Given the description of an element on the screen output the (x, y) to click on. 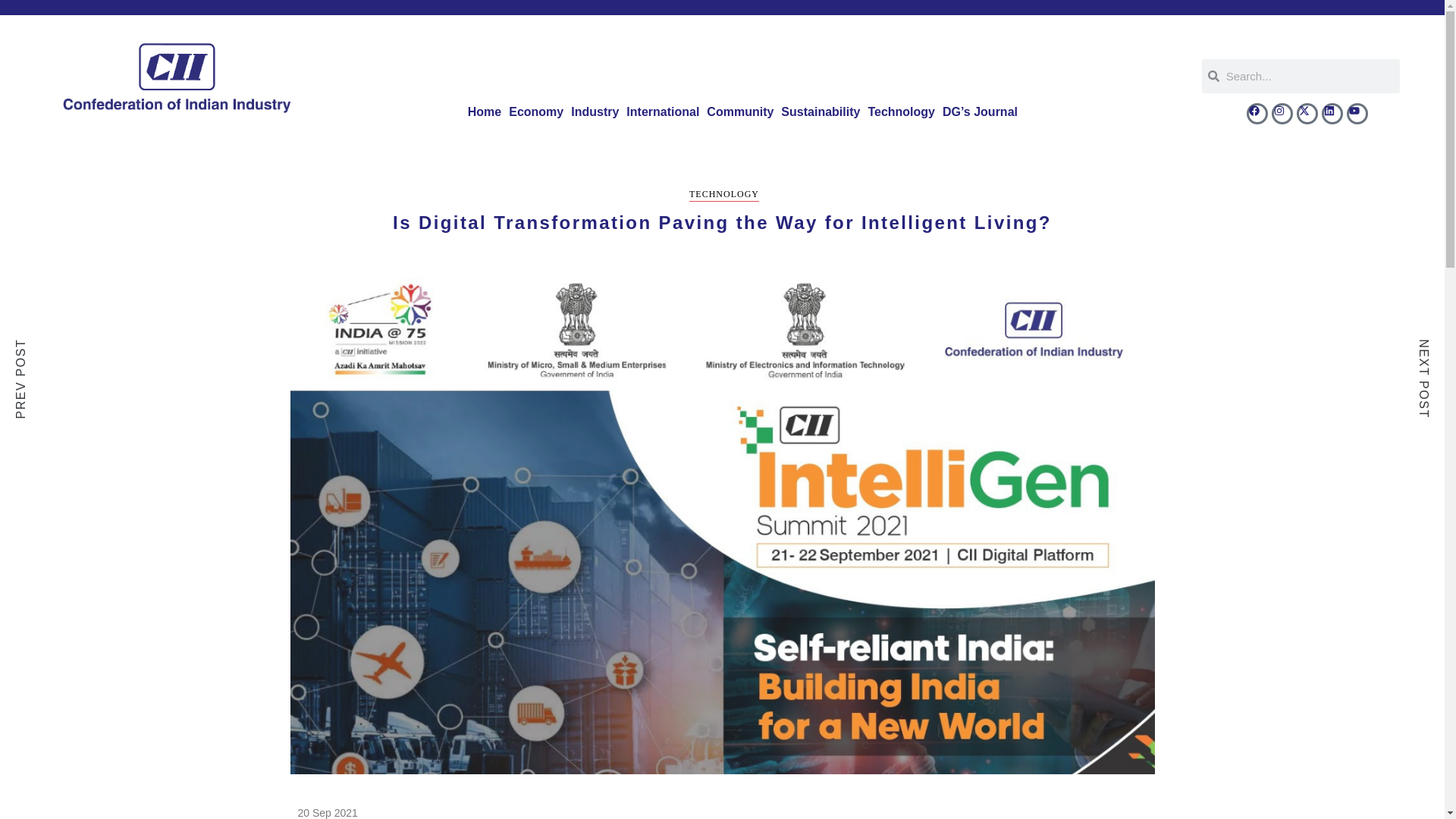
Community (740, 112)
Economy (536, 112)
Industry (595, 112)
Home (484, 112)
International (663, 112)
Technology (901, 112)
TECHNOLOGY (723, 195)
Sustainability (820, 112)
